Given the description of an element on the screen output the (x, y) to click on. 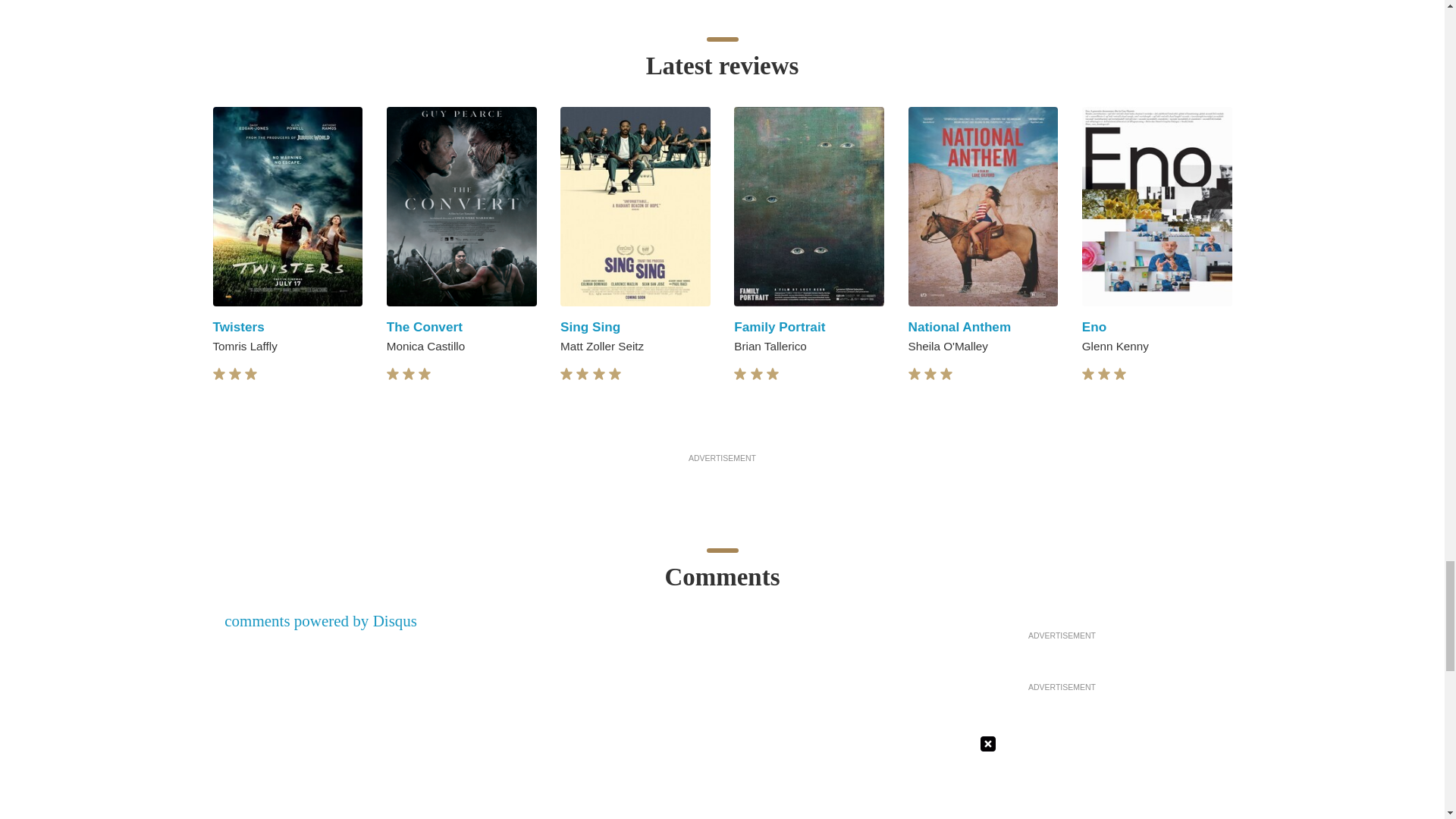
star-full (250, 373)
Family Portrait (779, 326)
Sing Sing (590, 326)
star-full (408, 373)
star-full (582, 373)
star-full (392, 373)
Twisters (237, 326)
star-full (218, 373)
The Convert (425, 326)
star-full (566, 373)
star-full (234, 373)
star-full (424, 373)
